Given the description of an element on the screen output the (x, y) to click on. 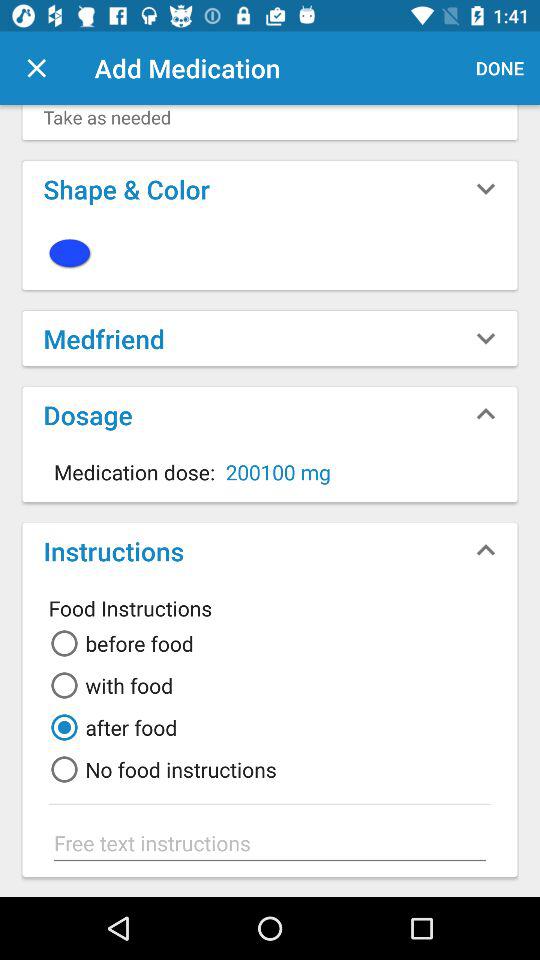
close screen (36, 68)
